Given the description of an element on the screen output the (x, y) to click on. 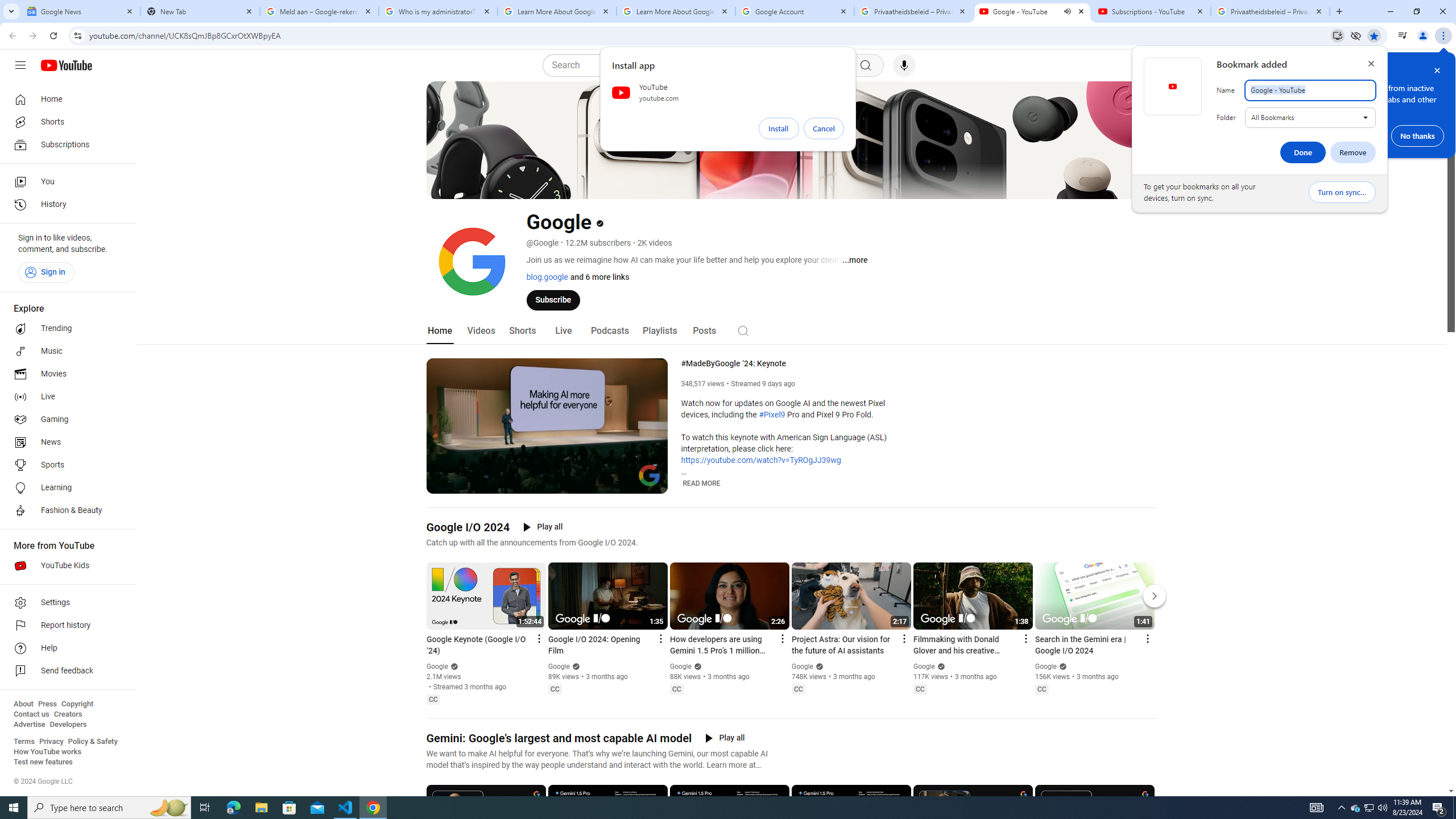
Live (64, 396)
Notification Chevron (1341, 807)
Full screen (f) (650, 483)
Google Account (1368, 807)
Movies (794, 11)
Remove (64, 373)
Type here to search (1352, 151)
Shorts (108, 807)
Policy & Safety (64, 121)
News (91, 741)
READ MORE (64, 441)
